Given the description of an element on the screen output the (x, y) to click on. 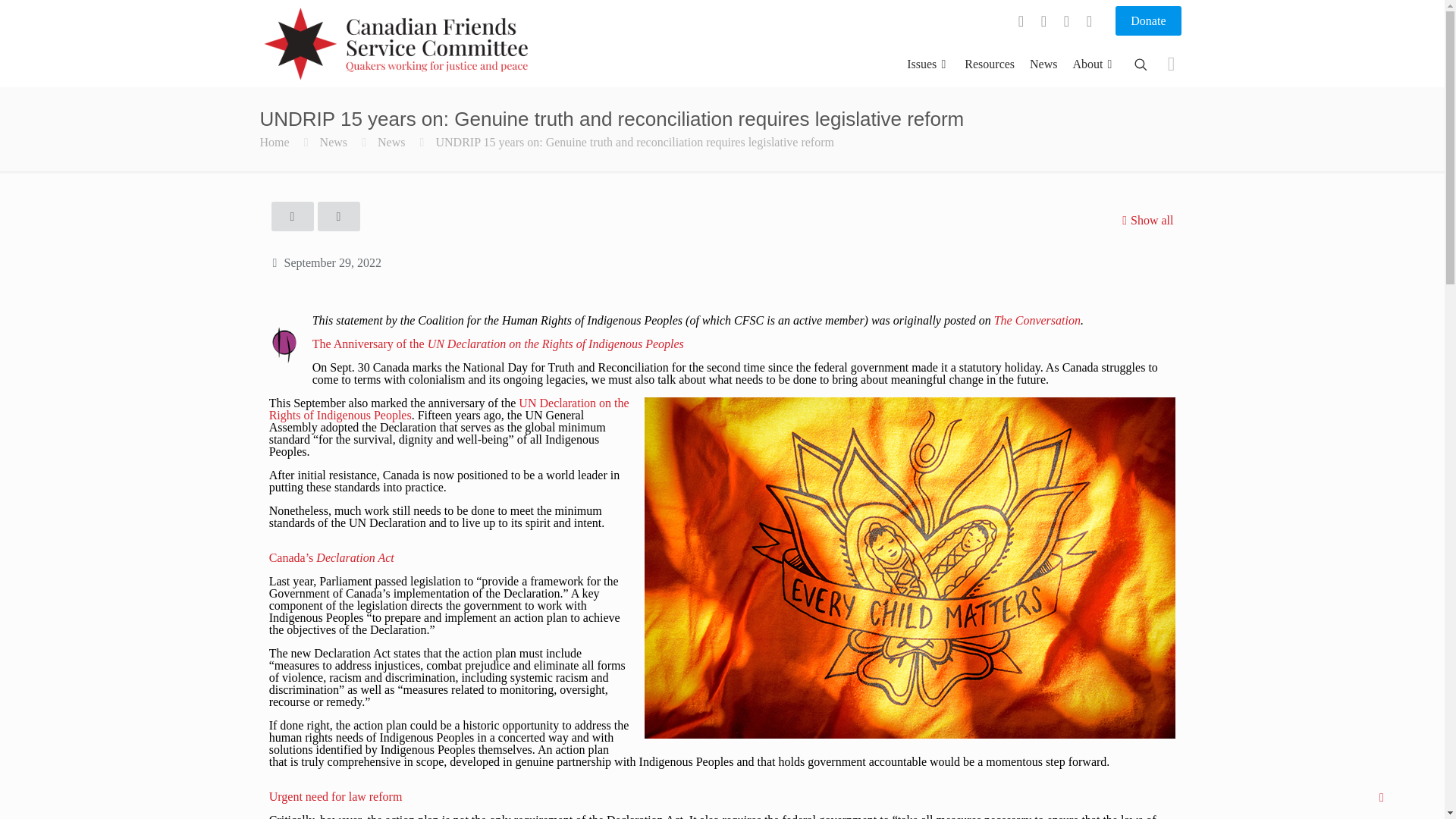
About (1093, 63)
Issues (927, 63)
Resources (989, 63)
Donate (1147, 20)
News (1043, 63)
